Given the description of an element on the screen output the (x, y) to click on. 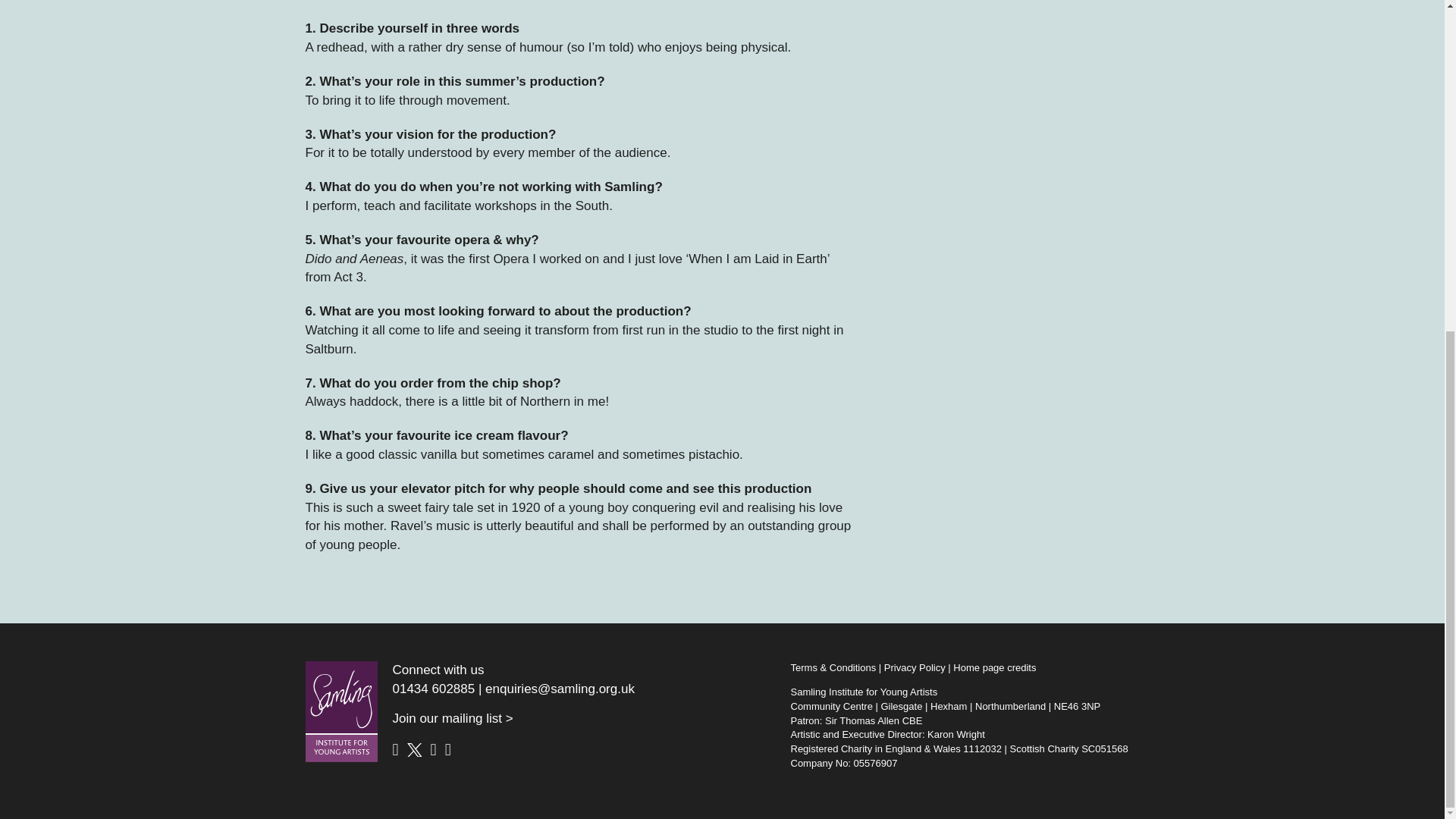
Privacy Policy (913, 667)
Home page credits (994, 667)
